Given the description of an element on the screen output the (x, y) to click on. 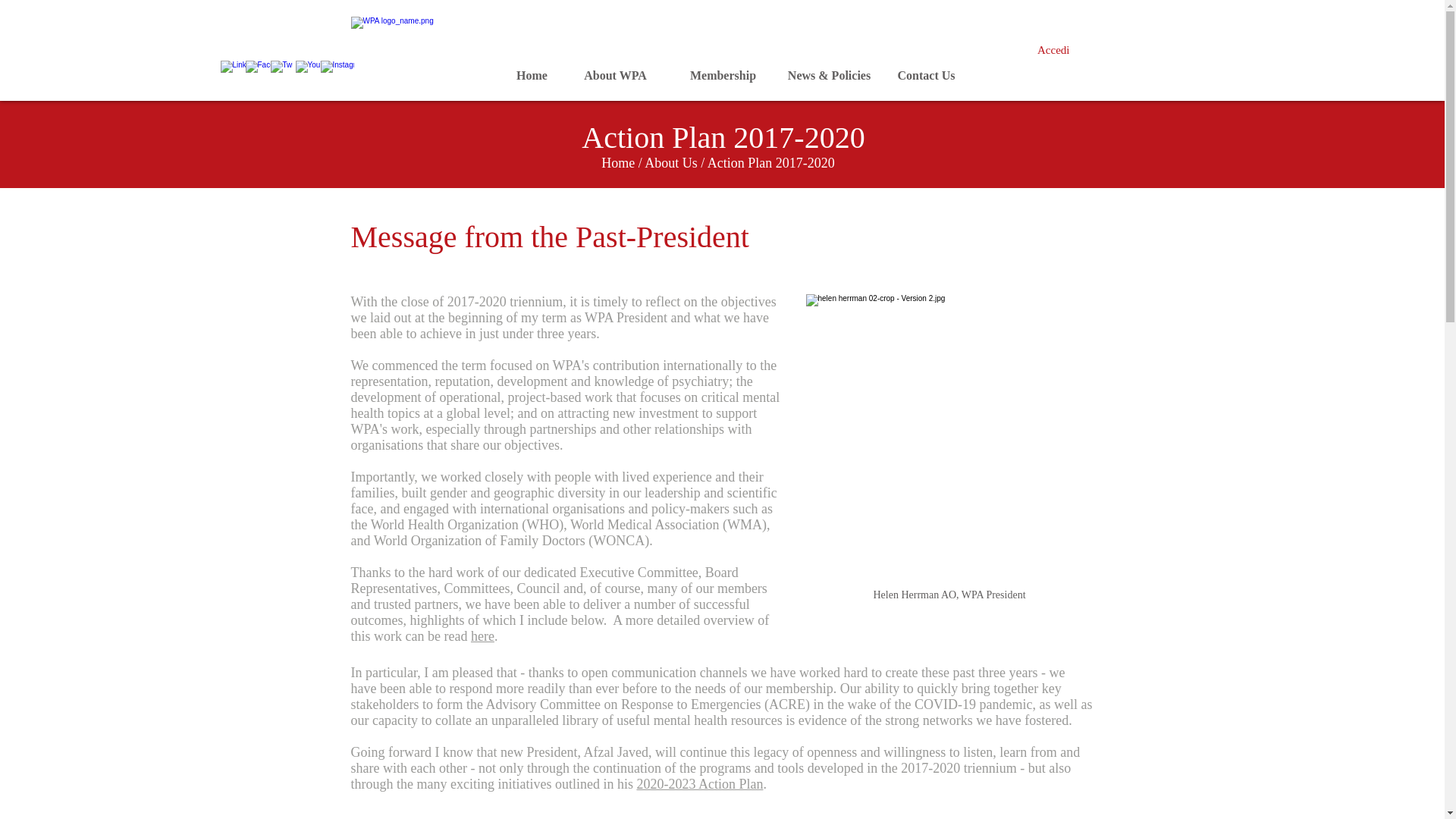
2020-2023 Action Plan (699, 783)
Accedi (1053, 50)
Contact Us (925, 75)
Home (531, 75)
here (482, 635)
Home (617, 162)
